Given the description of an element on the screen output the (x, y) to click on. 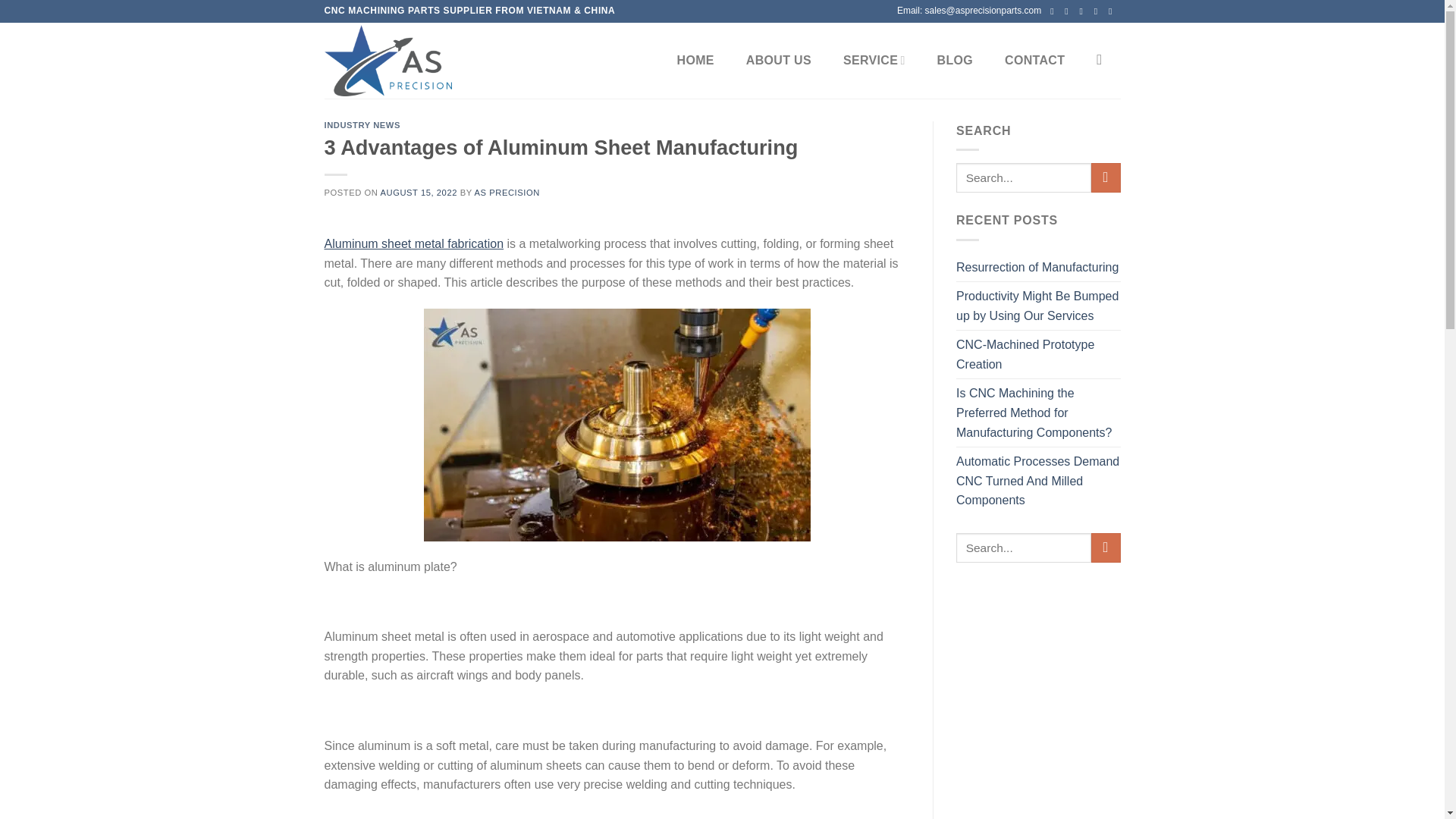
SERVICE (874, 60)
INDUSTRY NEWS (362, 124)
HOME (695, 60)
CONTACT (1034, 60)
AS PRECISION - CNC Machining Parts and Service Supplier (400, 60)
Productivity Might Be Bumped up by Using Our Services (1038, 305)
AUGUST 15, 2022 (418, 192)
AS PRECISION (507, 192)
Resurrection of Manufacturing (1037, 267)
BLOG (955, 60)
ABOUT US (778, 60)
Aluminum sheet metal fabrication (413, 243)
